Given the description of an element on the screen output the (x, y) to click on. 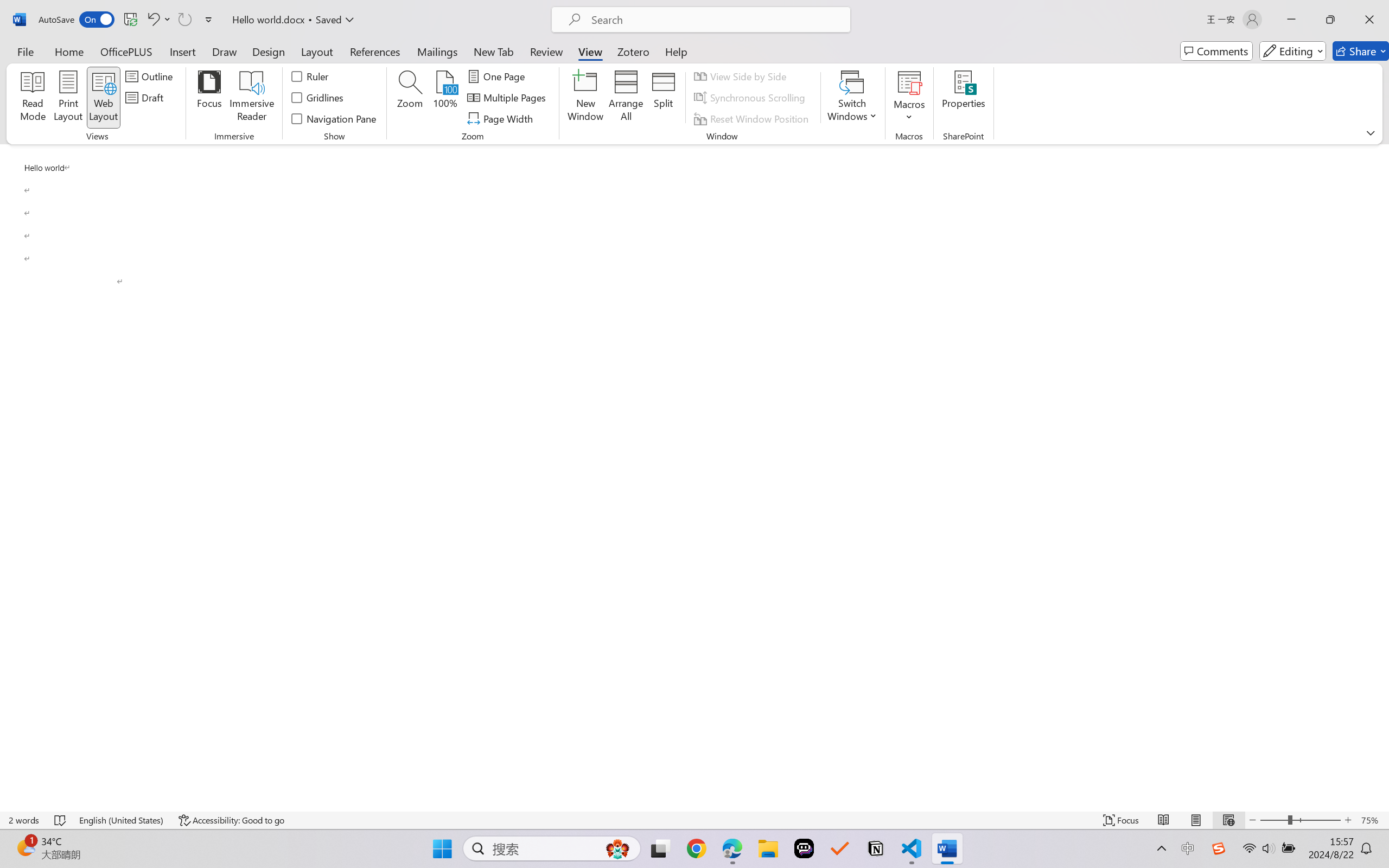
AutomationID: DynamicSearchBoxGleamImage (617, 848)
Draw (224, 51)
Arrange All (625, 97)
Layout (316, 51)
Zoom In (1348, 819)
Zoom... (409, 97)
Microsoft search (715, 19)
Restore Down (1330, 19)
Gridlines (317, 97)
One Page (497, 75)
Draft (146, 97)
Design (268, 51)
Insert (182, 51)
Reset Window Position (752, 118)
Ribbon Display Options (1370, 132)
